Given the description of an element on the screen output the (x, y) to click on. 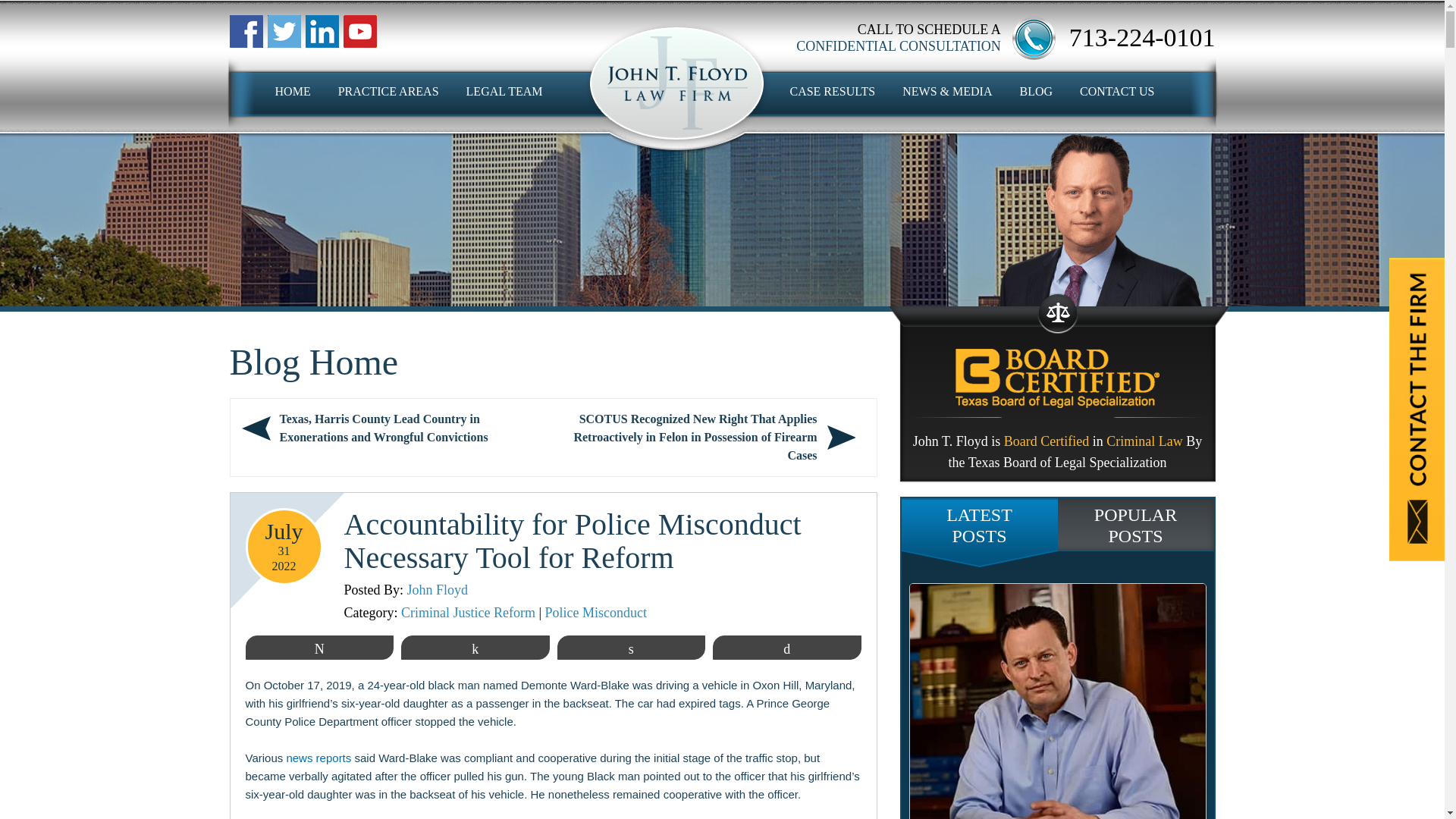
713-224-0101 (1141, 37)
CASE RESULTS (831, 91)
LEGAL TEAM (504, 91)
Posts by John Floyd (437, 589)
Facebook (320, 31)
PRACTICE AREAS (388, 91)
Facebook (245, 31)
Facebook (282, 31)
CONTACT US (1117, 91)
Facebook (358, 31)
HOME (293, 91)
